Given the description of an element on the screen output the (x, y) to click on. 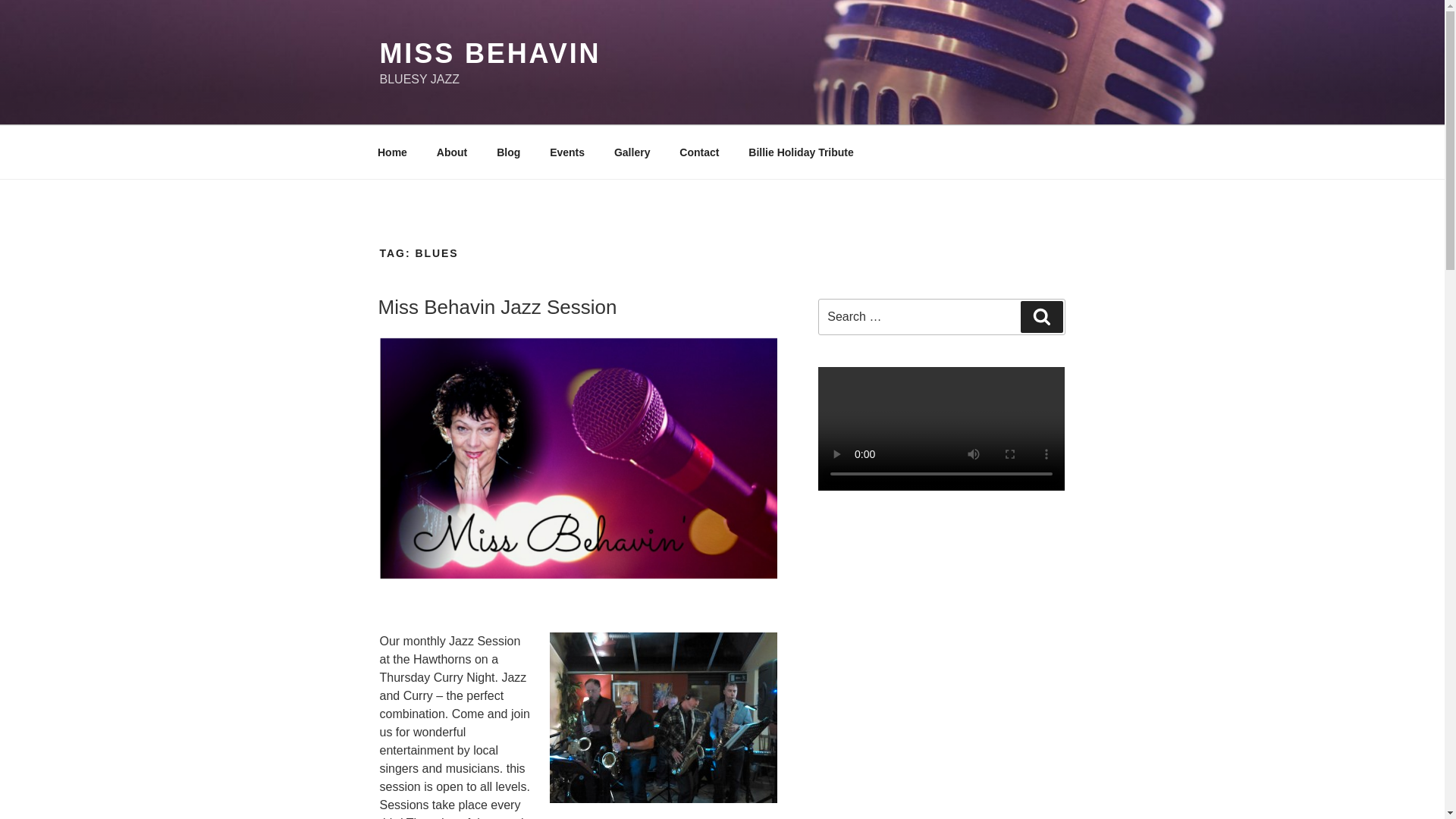
Search (1041, 316)
Blog (508, 151)
Events (567, 151)
Gallery (630, 151)
Home (392, 151)
Miss Behavin Jazz Session (496, 306)
About (451, 151)
Contact (699, 151)
MISS BEHAVIN (488, 52)
Billie Holiday Tribute (800, 151)
